Given the description of an element on the screen output the (x, y) to click on. 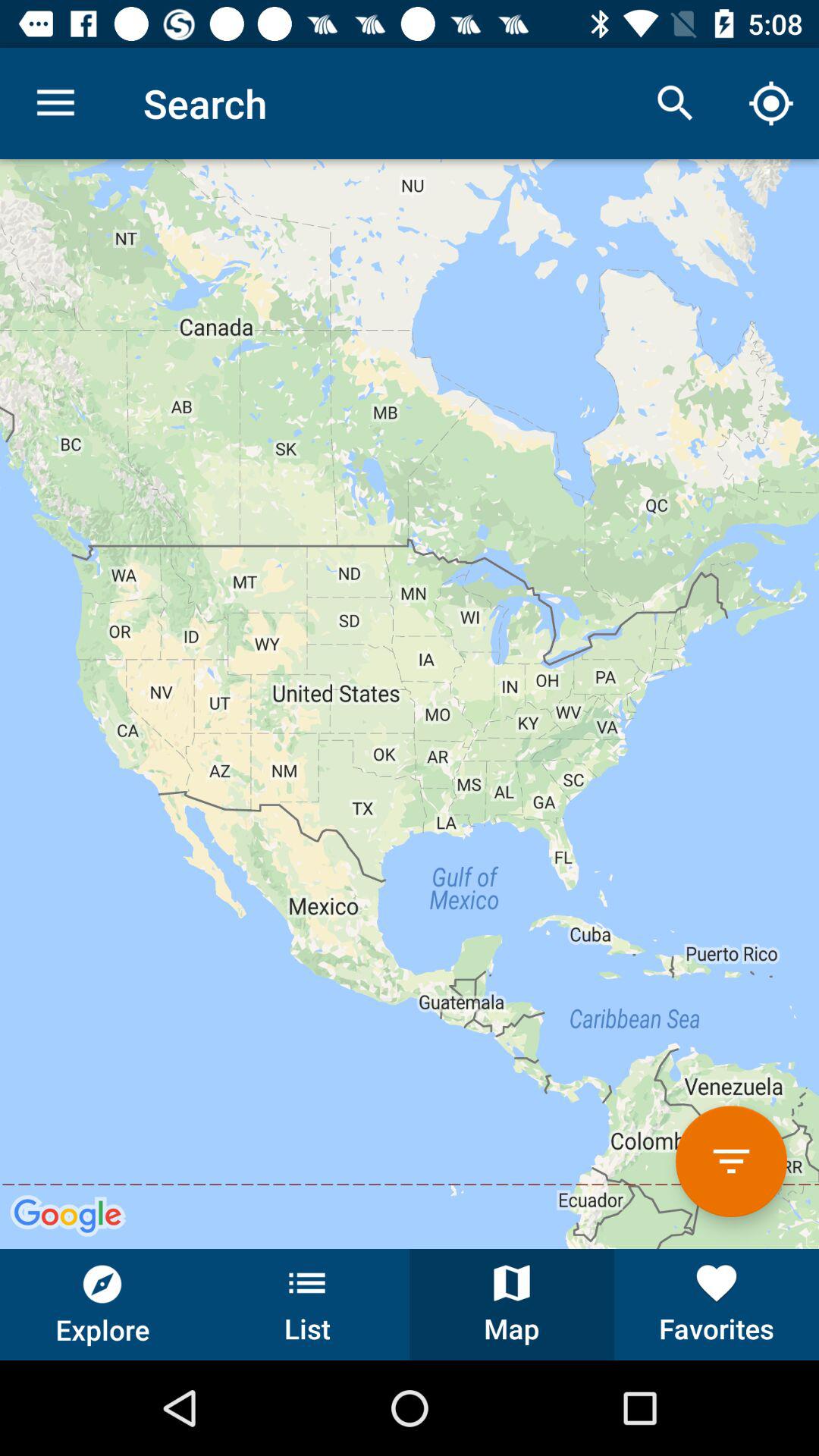
scroll to list item (306, 1304)
